Given the description of an element on the screen output the (x, y) to click on. 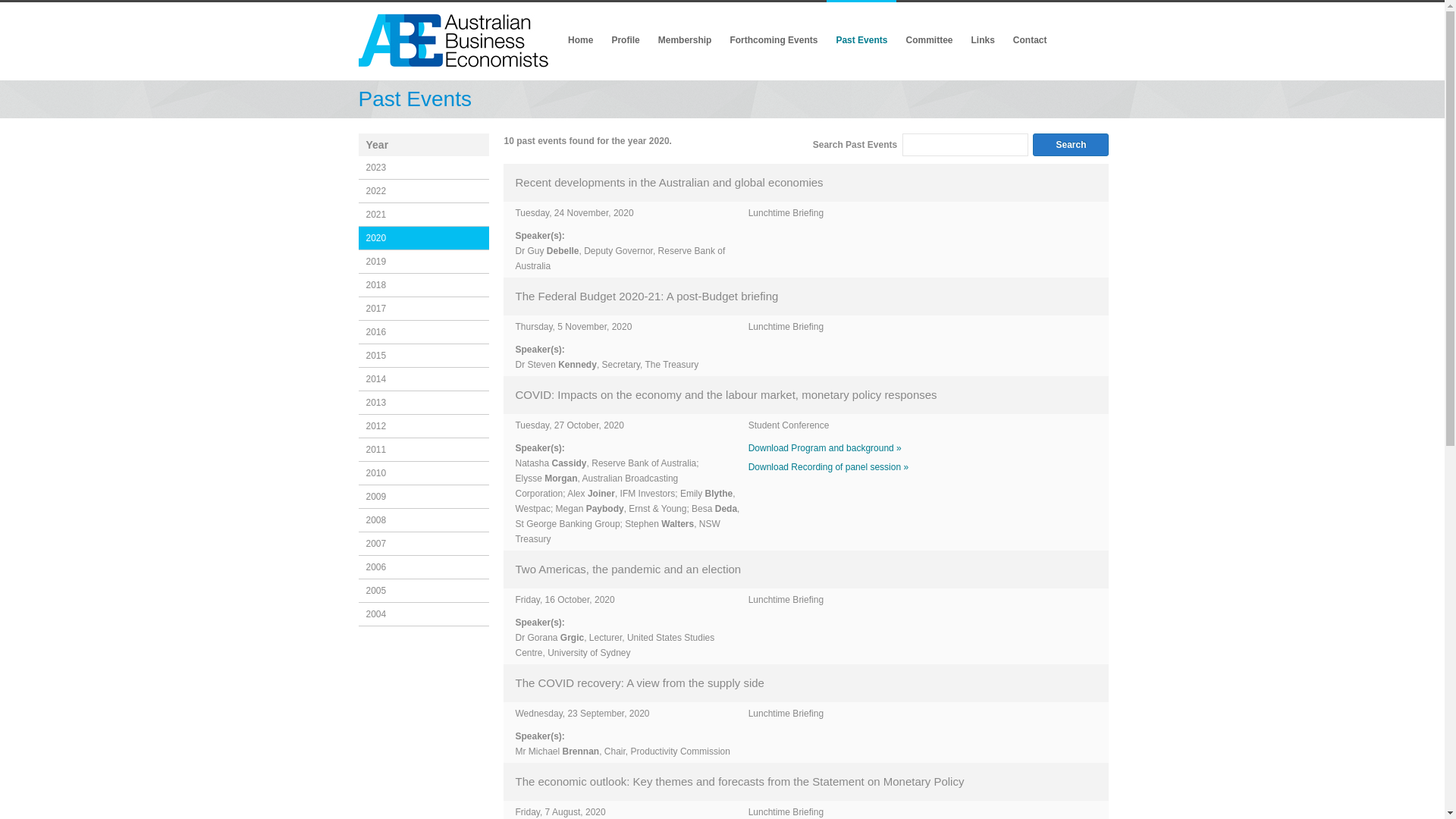
2005 Element type: text (423, 590)
Membership Element type: text (685, 40)
2022 Element type: text (423, 191)
2012 Element type: text (423, 426)
2007 Element type: text (423, 543)
2020 Element type: text (423, 238)
2010 Element type: text (423, 473)
2016 Element type: text (423, 332)
2009 Element type: text (423, 496)
2021 Element type: text (423, 214)
2015 Element type: text (423, 355)
Past Events Element type: text (861, 40)
Links Element type: text (982, 40)
2017 Element type: text (423, 308)
Profile Element type: text (625, 40)
2011 Element type: text (423, 449)
Forthcoming Events Element type: text (773, 40)
Home Element type: text (580, 40)
Contact Element type: text (1030, 40)
2018 Element type: text (423, 285)
2013 Element type: text (423, 402)
2008 Element type: text (423, 520)
2023 Element type: text (423, 167)
2014 Element type: text (423, 379)
2004 Element type: text (423, 614)
2019 Element type: text (423, 261)
Committee Element type: text (928, 40)
2006 Element type: text (423, 567)
Search Element type: text (1070, 144)
